Given the description of an element on the screen output the (x, y) to click on. 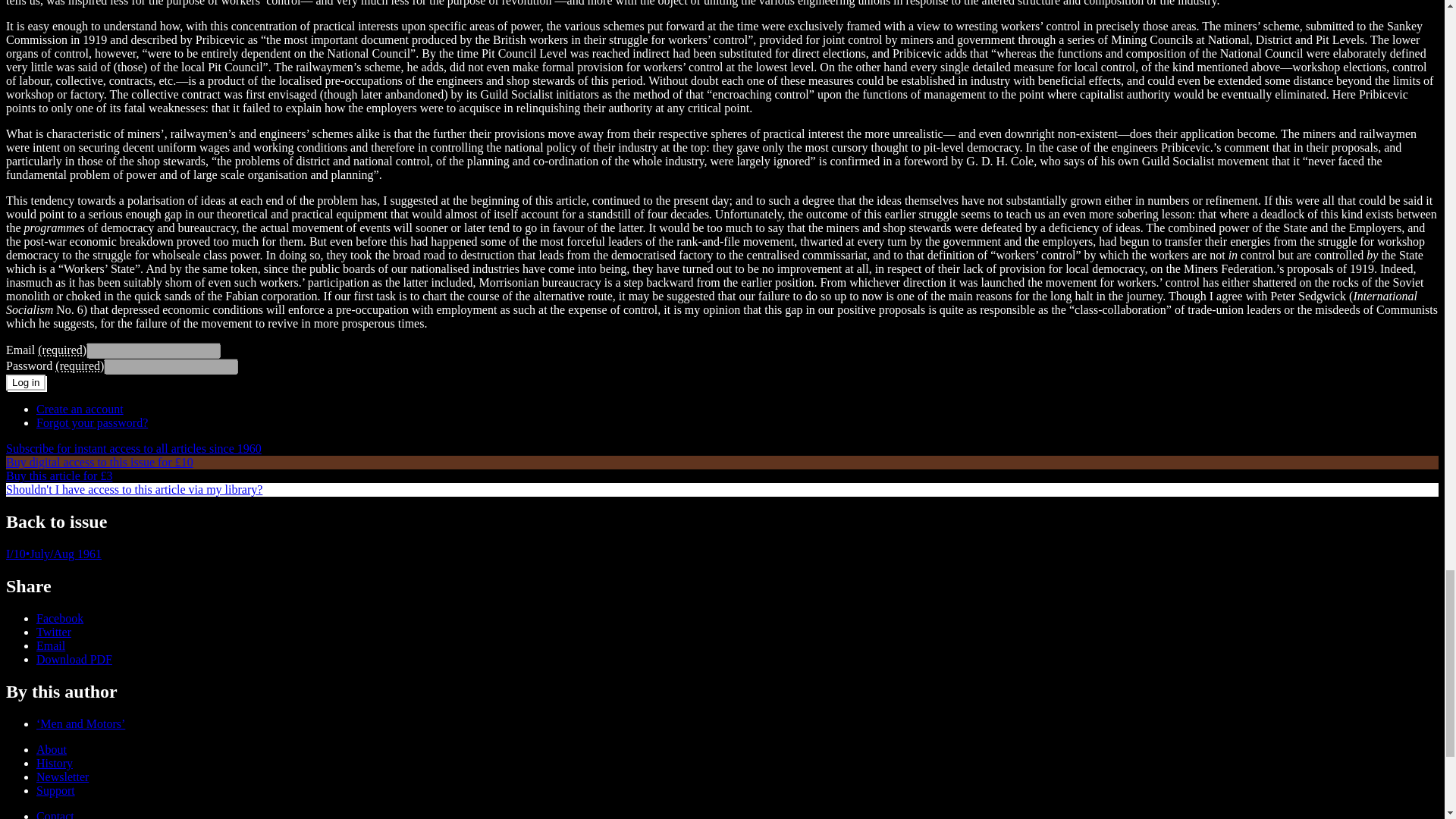
Create an account (79, 408)
Support (55, 789)
Forgot your password? (92, 422)
About (51, 748)
Facebook (59, 617)
Email (50, 645)
Subscribe for instant access to all articles since 1960 (133, 448)
Newsletter (62, 776)
Log in (25, 382)
you must complete this field (79, 365)
you must complete this field (61, 349)
Download PDF (74, 658)
Contact (55, 814)
History (54, 762)
Log in (25, 382)
